Given the description of an element on the screen output the (x, y) to click on. 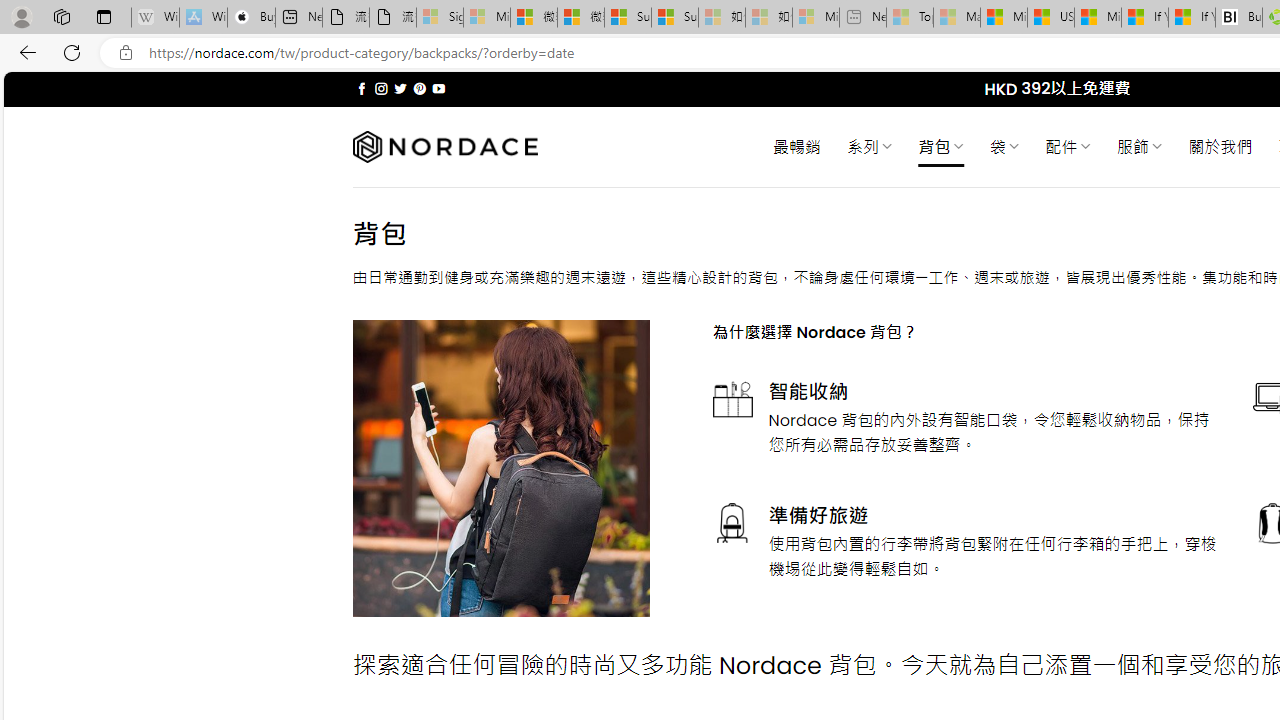
Buy iPad - Apple (251, 17)
Microsoft Services Agreement - Sleeping (486, 17)
US Heat Deaths Soared To Record High Last Year (1050, 17)
Microsoft account | Account Checkup - Sleeping (815, 17)
